Given the description of an element on the screen output the (x, y) to click on. 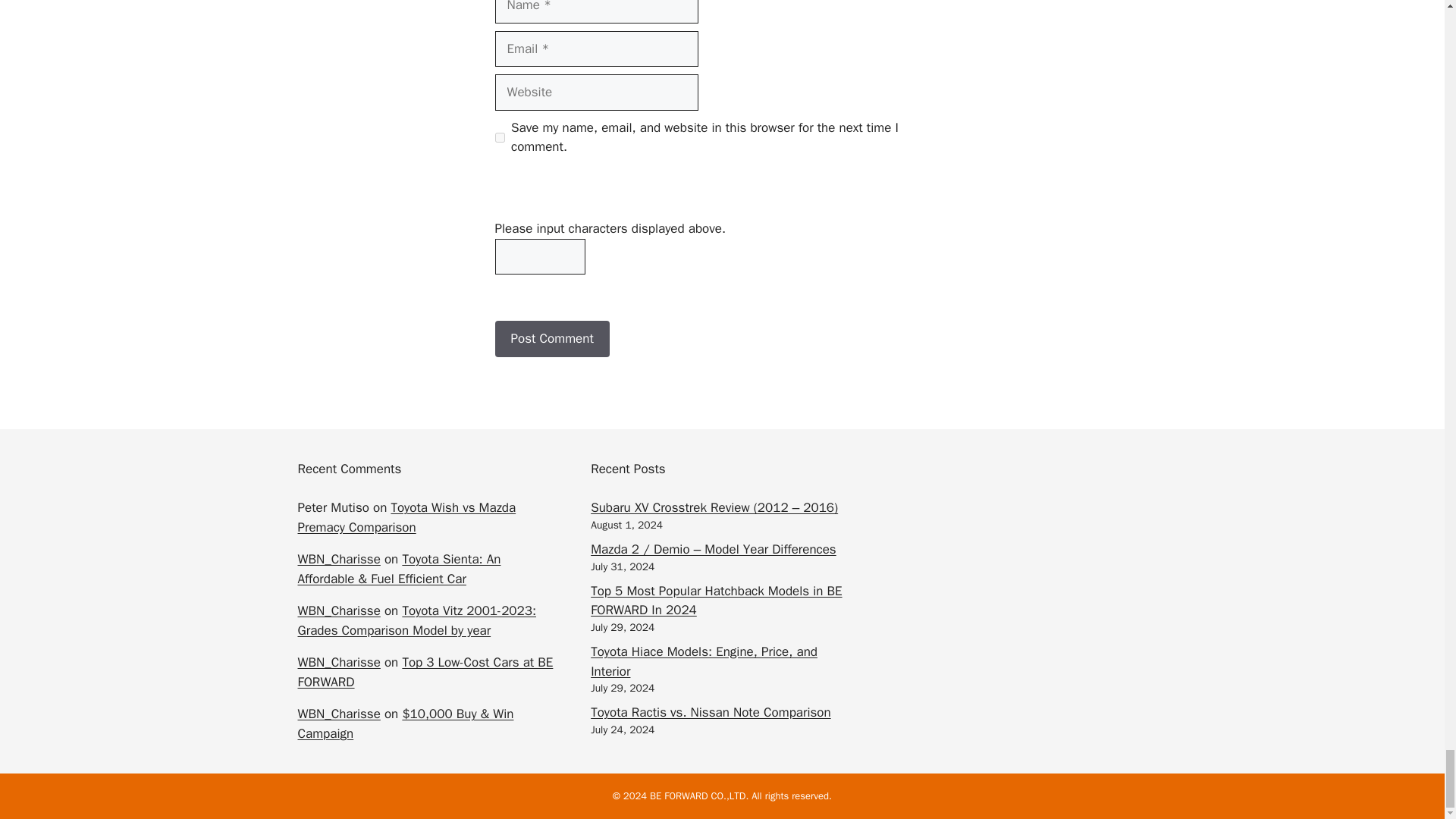
yes (499, 137)
Post Comment (551, 339)
